Given the description of an element on the screen output the (x, y) to click on. 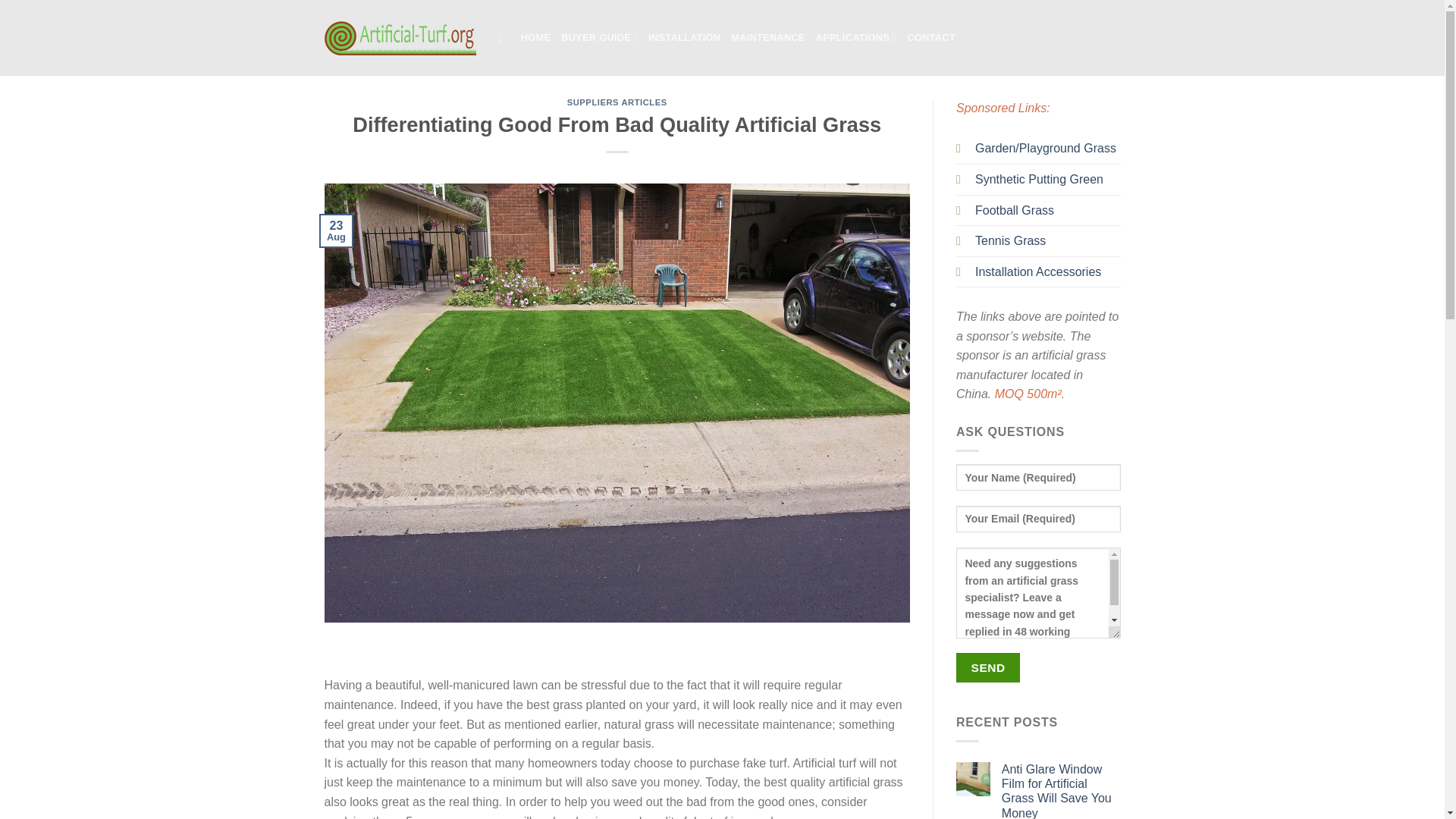
HOME (535, 37)
Tennis Grass (1010, 240)
SUPPLIERS ARTICLES (616, 102)
BUYER GUIDE (598, 37)
INSTALLATION (683, 37)
MAINTENANCE (767, 37)
APPLICATIONS (855, 37)
Football Grass (1014, 210)
Synthetic Putting Green (1039, 178)
Send (988, 667)
Send (988, 667)
Installation Accessories (1037, 271)
